Given the description of an element on the screen output the (x, y) to click on. 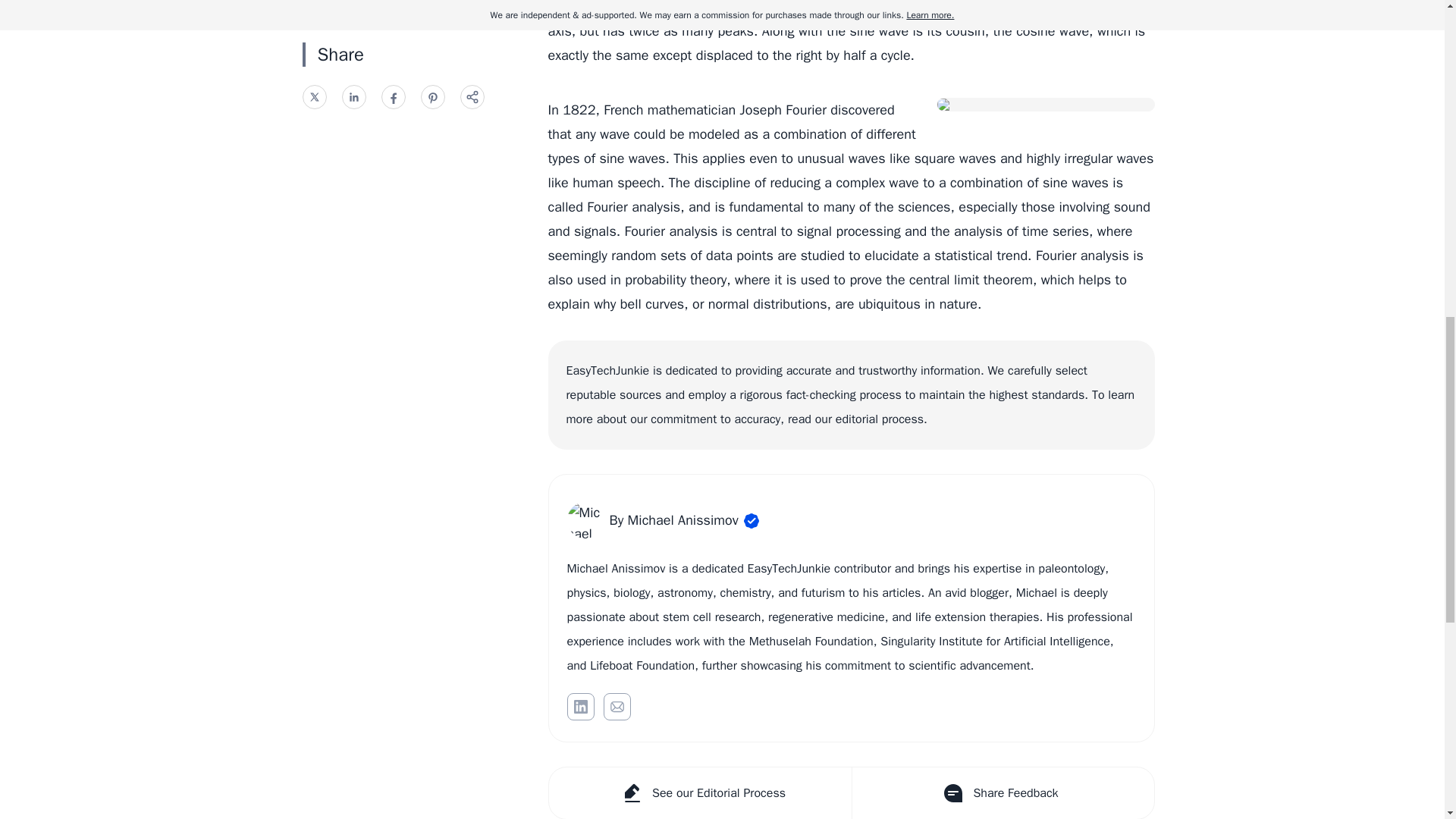
See our Editorial Process (699, 793)
Share Feedback (1001, 793)
